Given the description of an element on the screen output the (x, y) to click on. 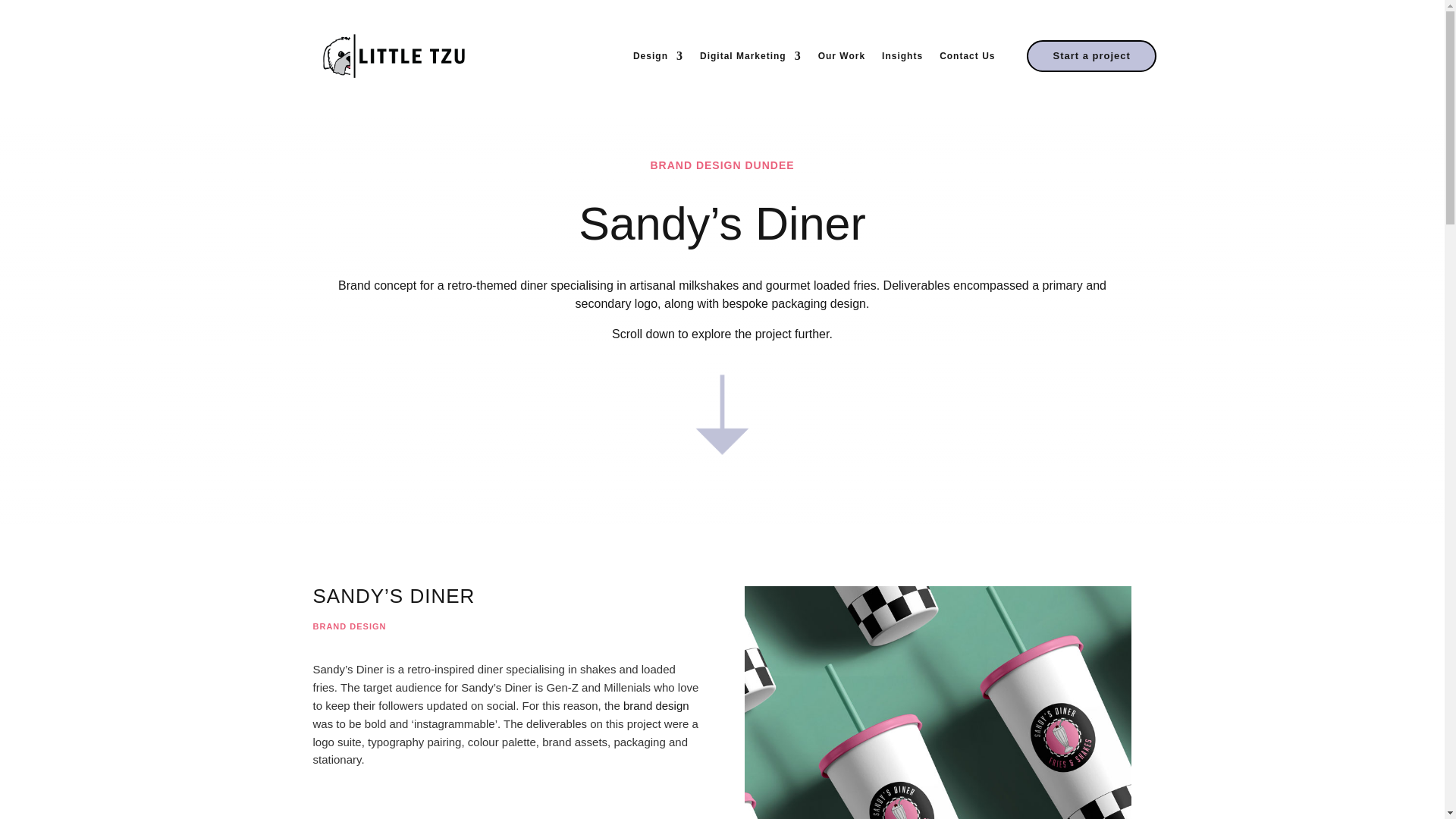
Design (657, 55)
Artboard 14 (721, 414)
LT-SD-001 (937, 702)
Digital Marketing (751, 55)
Insights (902, 55)
Start a project (1091, 56)
Contact Us (966, 55)
brand design (655, 705)
Our Work (841, 55)
